Given the description of an element on the screen output the (x, y) to click on. 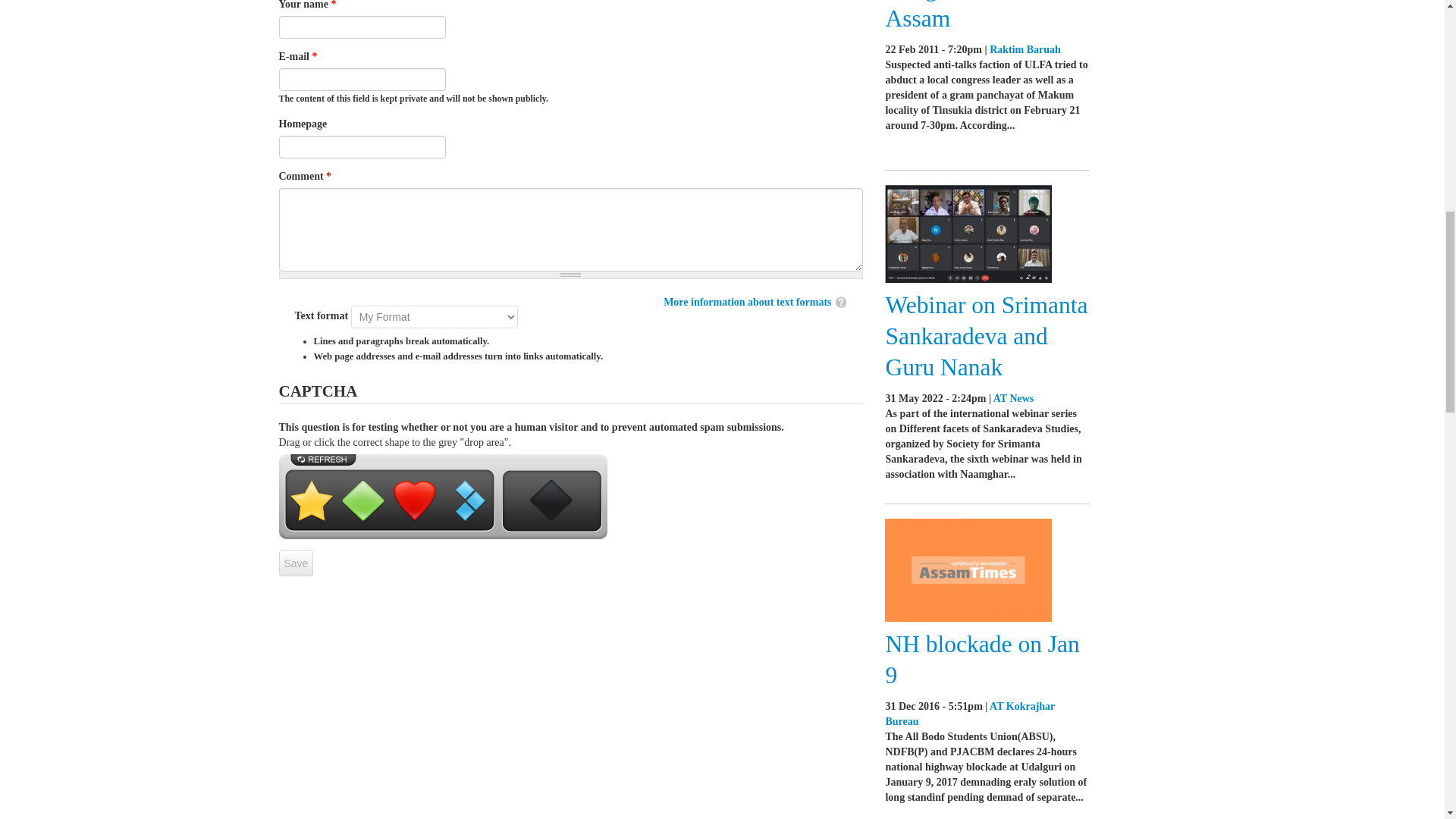
AT Kokrajhar Bureau (969, 714)
This field is required. (328, 175)
Save (296, 562)
View user profile. (1012, 398)
Webinar on Srimanta Sankaradeva and Guru Nanak (986, 335)
View user profile. (1025, 49)
This field is required. (314, 56)
NH blockade on Jan 9 (981, 659)
AT News (1012, 398)
This field is required. (333, 4)
More information about text formats (746, 301)
Save (296, 562)
View user profile. (969, 714)
Raktim Baruah (1025, 49)
ULFA Attacked Congress Leader in Assam (977, 16)
